Given the description of an element on the screen output the (x, y) to click on. 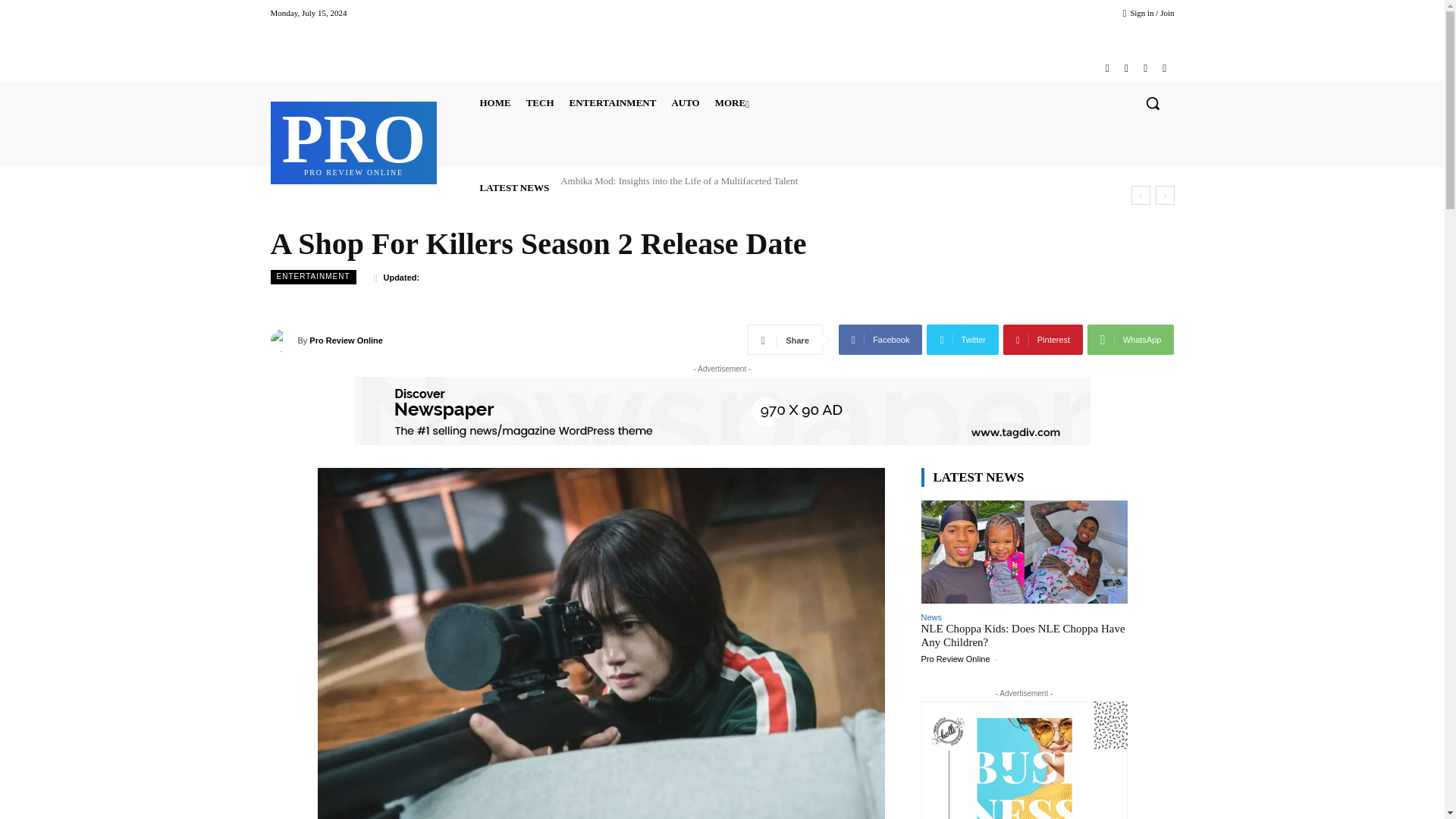
Ambika Mod: Insights into the Life of a Multifaceted Talent (678, 180)
HOME (494, 102)
AUTO (684, 102)
TECH (354, 140)
Twitter (539, 102)
Youtube (1144, 67)
ENTERTAINMENT (1163, 67)
MORE (612, 102)
Instagram (732, 102)
Facebook (1125, 67)
